Given the description of an element on the screen output the (x, y) to click on. 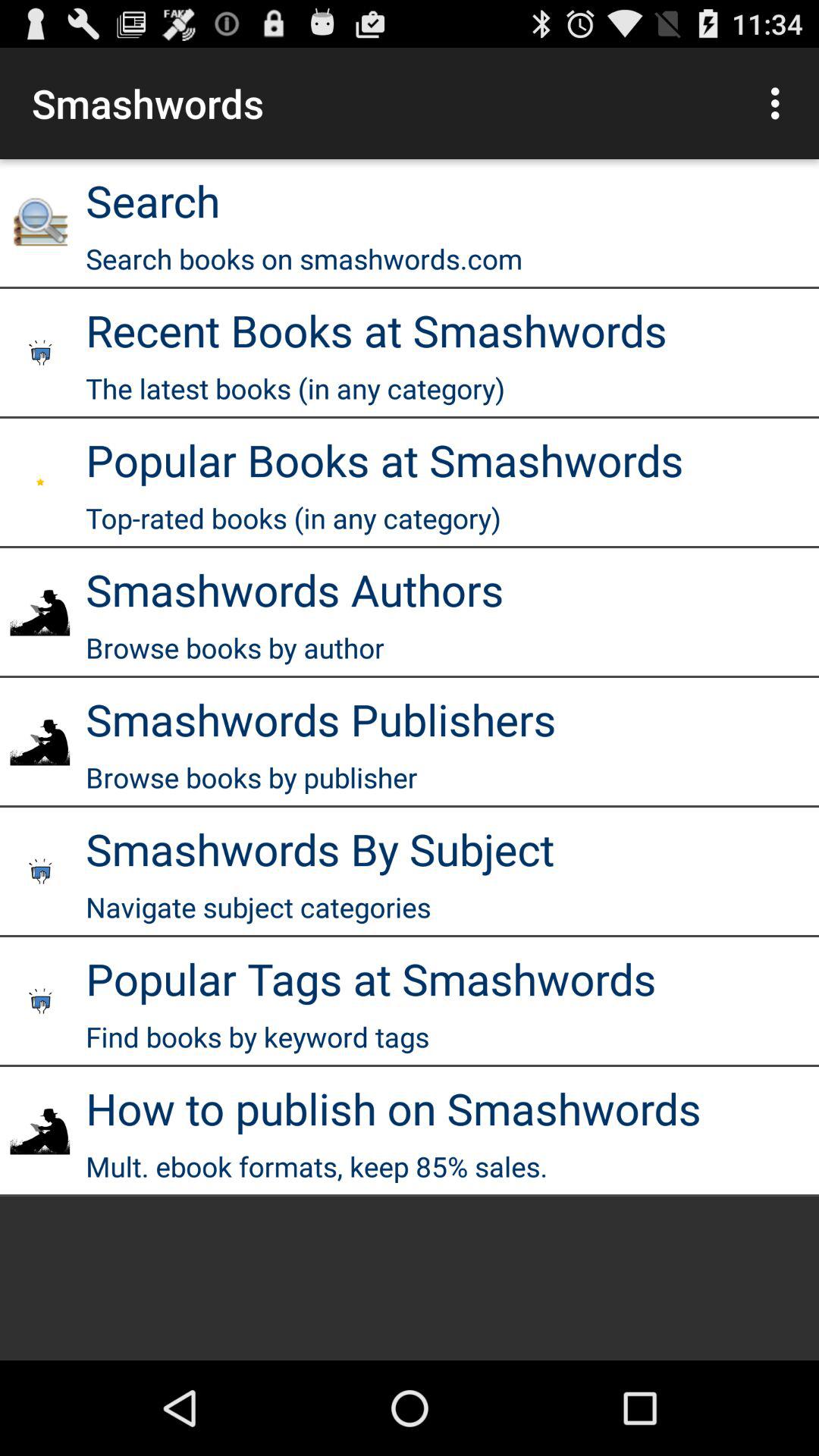
tap app below the browse books by app (320, 718)
